Given the description of an element on the screen output the (x, y) to click on. 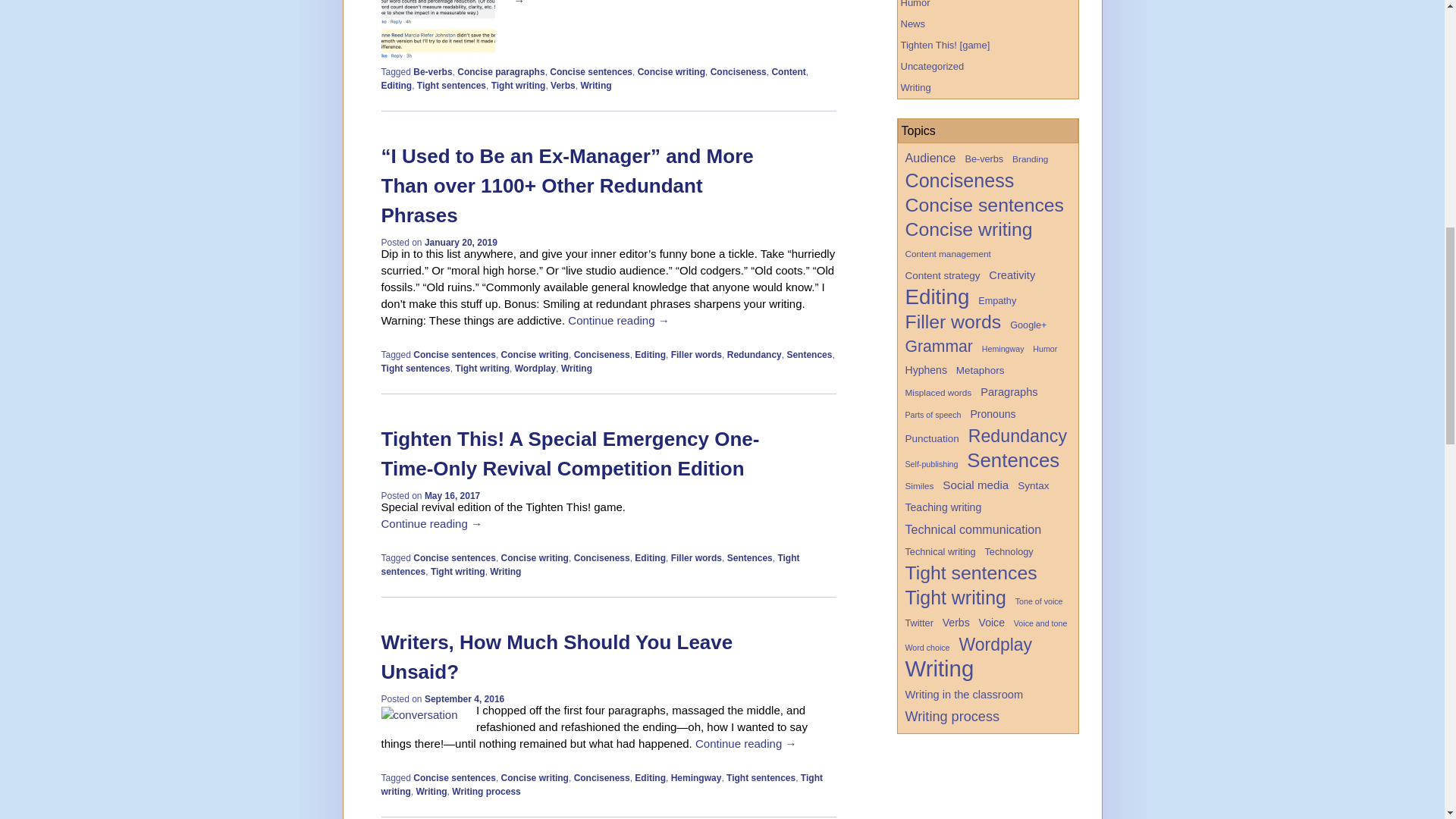
10:30 am (461, 242)
5:13 pm (452, 495)
Permalink to Writers, How Much Should You Leave Unsaid? (556, 656)
